Given the description of an element on the screen output the (x, y) to click on. 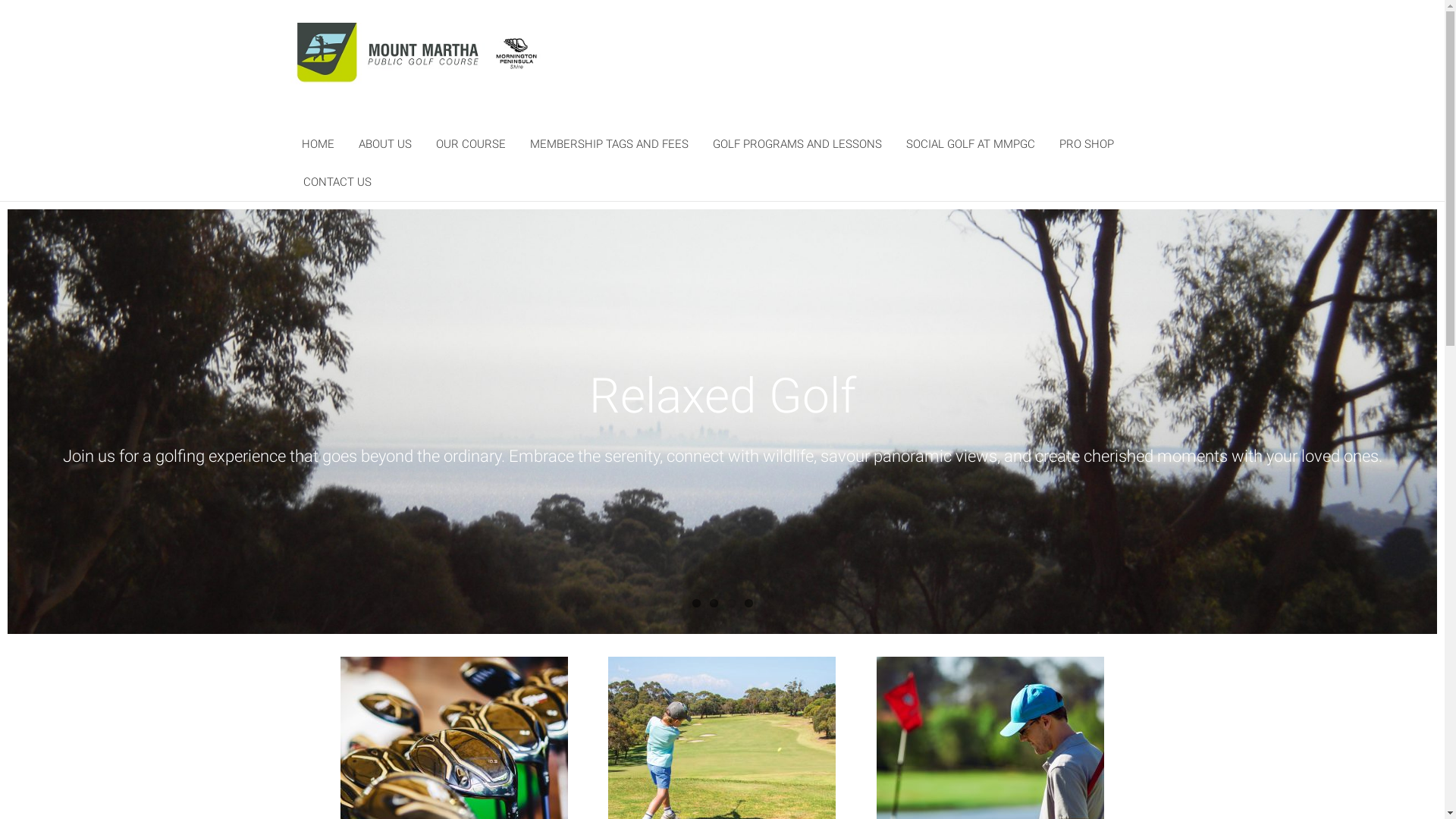
MEMBERSHIP TAGS AND FEES Element type: text (608, 144)
GOLF PROGRAMS AND LESSONS Element type: text (796, 144)
3 Element type: text (730, 603)
PRO SHOP Element type: text (1085, 144)
2 Element type: text (713, 603)
HOME Element type: text (317, 144)
CONTACT US Element type: text (337, 181)
OUR COURSE Element type: text (470, 144)
LEARN MORE Element type: text (721, 468)
SOCIAL GOLF AT MMPGC Element type: text (969, 144)
1 Element type: text (695, 603)
4 Element type: text (748, 603)
ABOUT US Element type: text (384, 144)
